Given the description of an element on the screen output the (x, y) to click on. 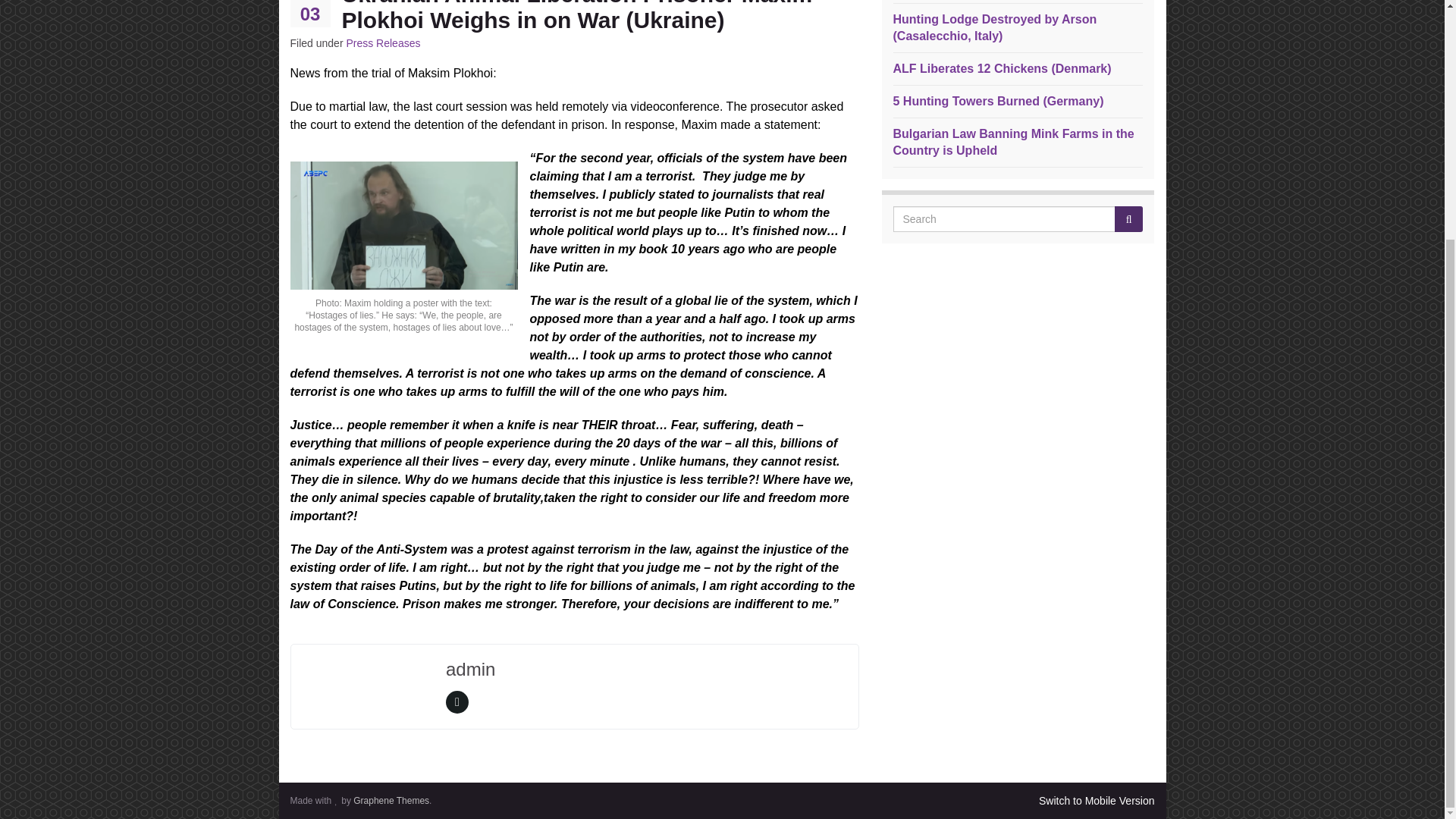
Press Releases (383, 42)
Bulgarian Law Banning Mink Farms in the Country is Upheld (1013, 142)
